Given the description of an element on the screen output the (x, y) to click on. 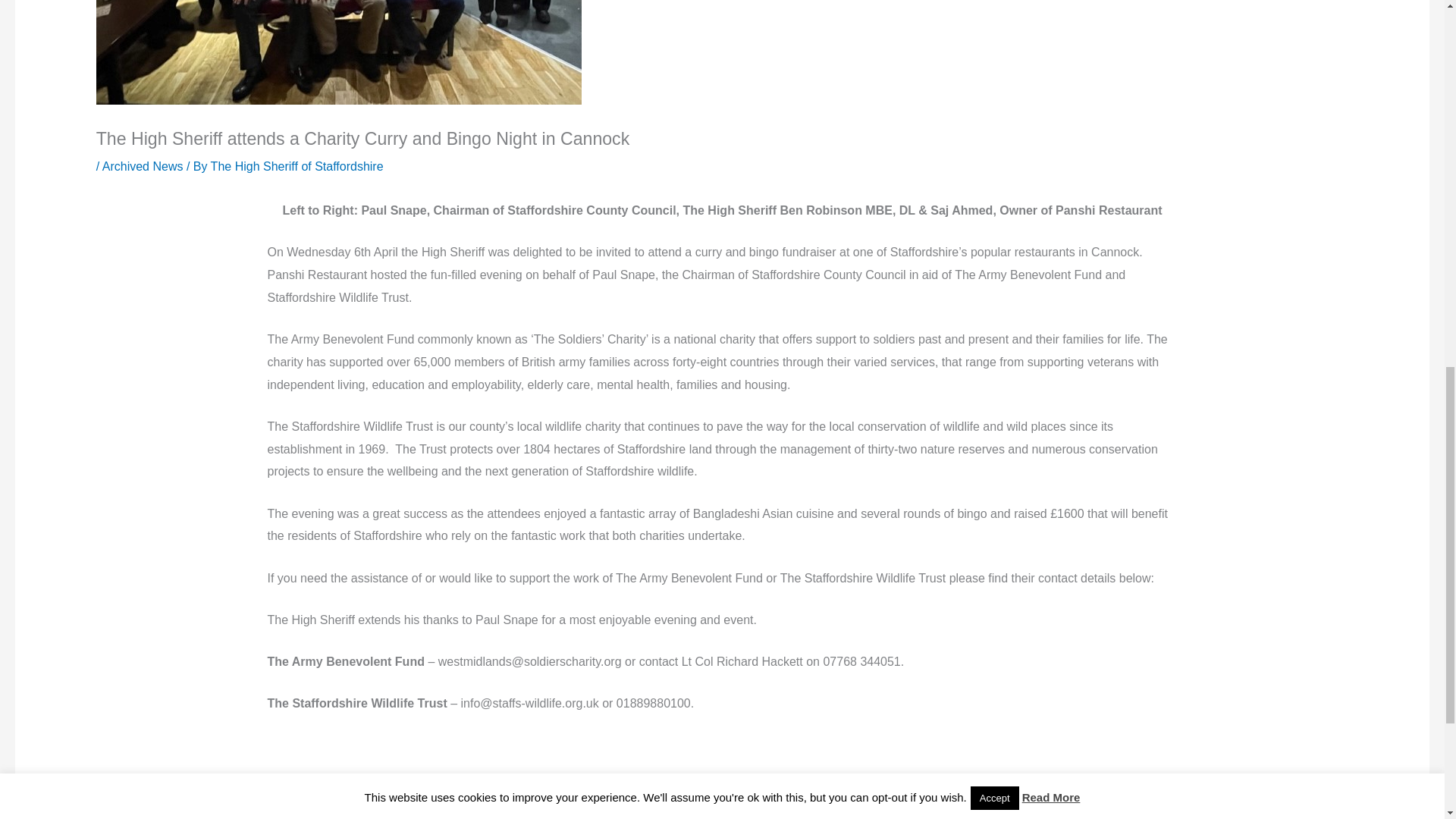
The High Sheriff of Staffordshire (297, 165)
Archived News (142, 165)
View all posts by The High Sheriff of Staffordshire (297, 165)
